Given the description of an element on the screen output the (x, y) to click on. 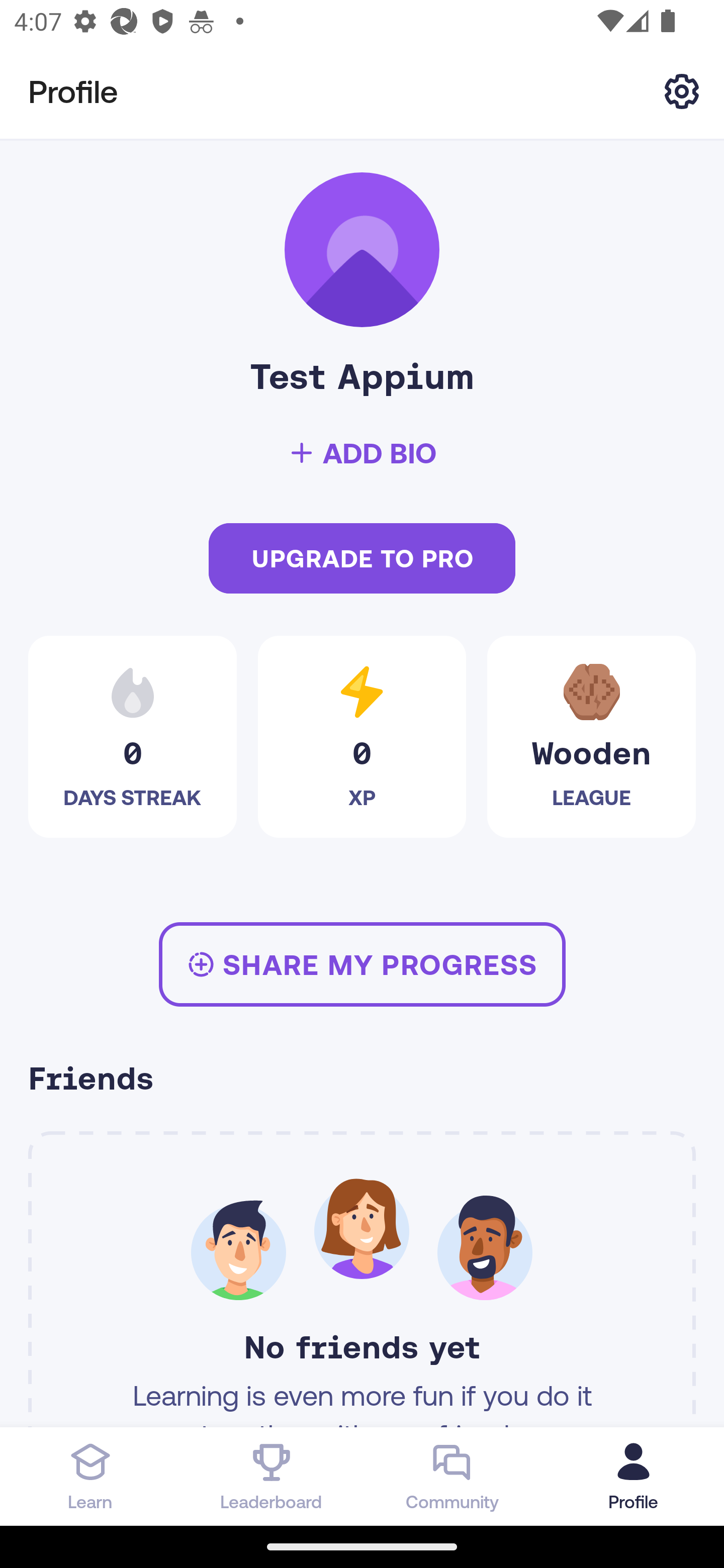
Settings (681, 90)
ADD BIO (361, 452)
UPGRADE TO PRO (361, 558)
SHARE MY PROGRESS (361, 963)
Friends (362, 1081)
Learn (90, 1475)
Leaderboard (271, 1475)
Community (452, 1475)
